Given the description of an element on the screen output the (x, y) to click on. 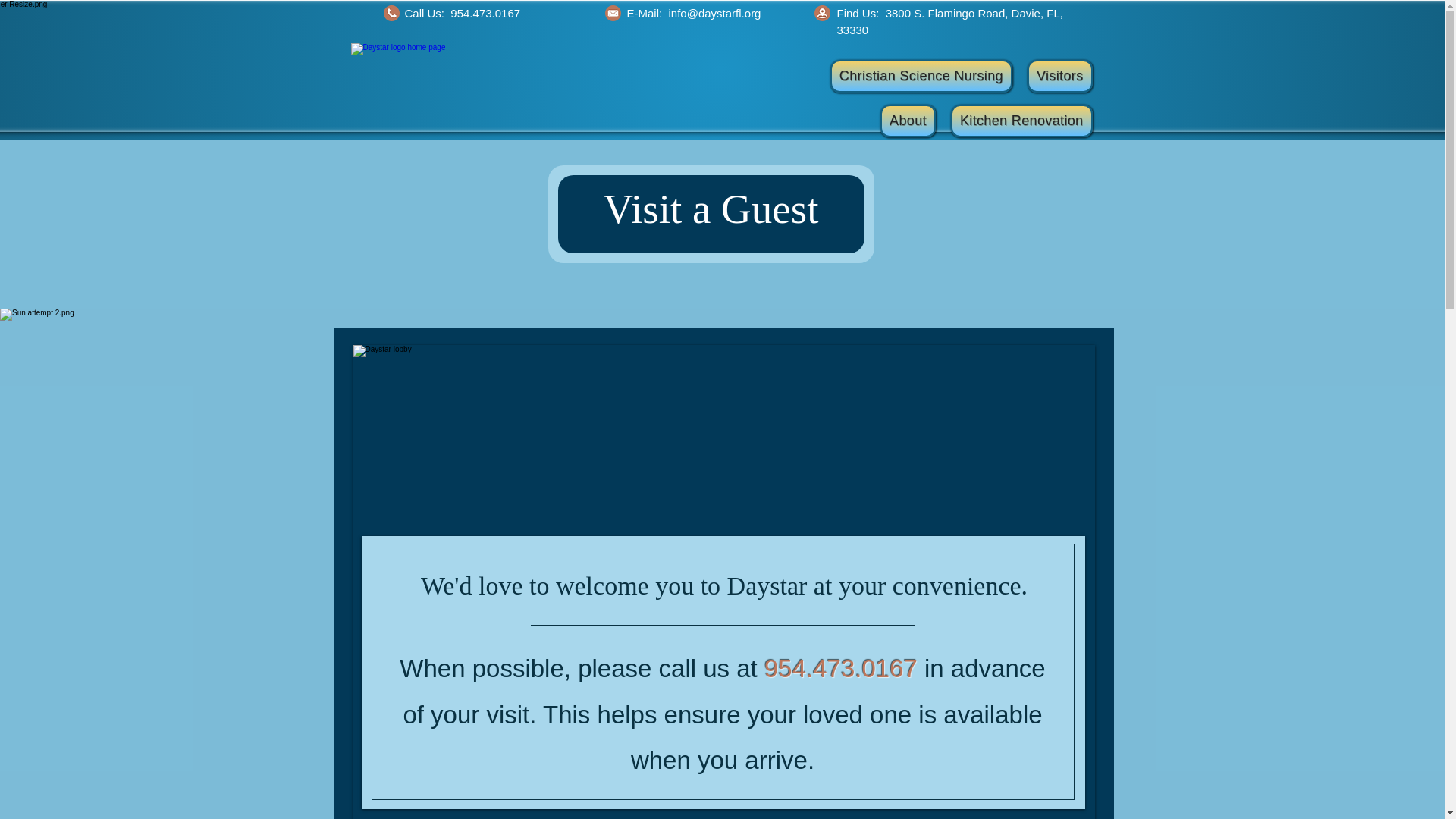
Find Us.png (821, 12)
Kitchen Renovation (1021, 120)
Email.png (613, 12)
